Given the description of an element on the screen output the (x, y) to click on. 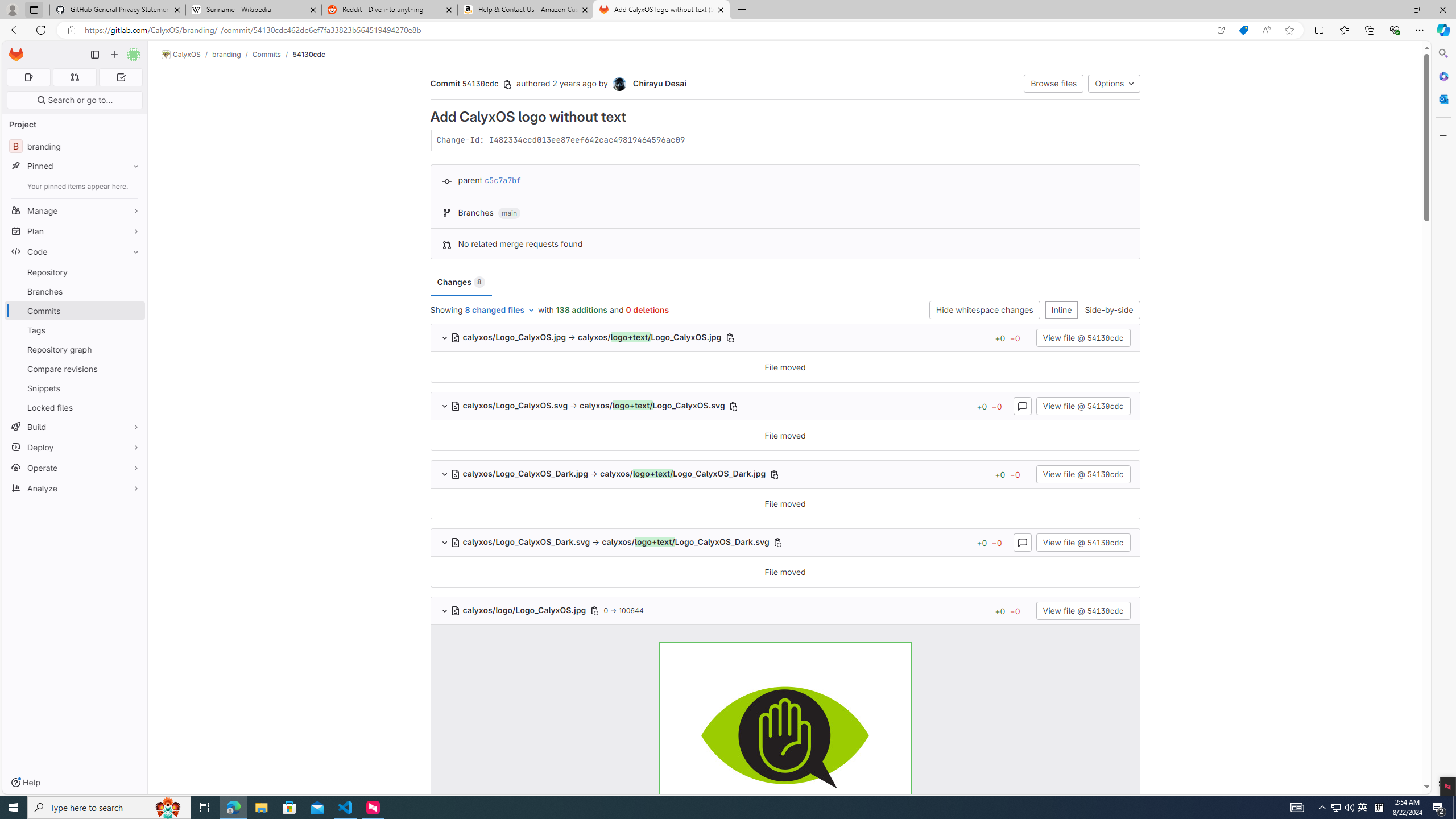
Tags (74, 330)
Locked files (74, 407)
View file @ 54130cdc (1083, 610)
Build (74, 426)
Class: s16 chevron-down (444, 610)
Compare revisions (74, 368)
GitHub General Privacy Statement - GitHub Docs (117, 9)
Plan (74, 230)
